Given the description of an element on the screen output the (x, y) to click on. 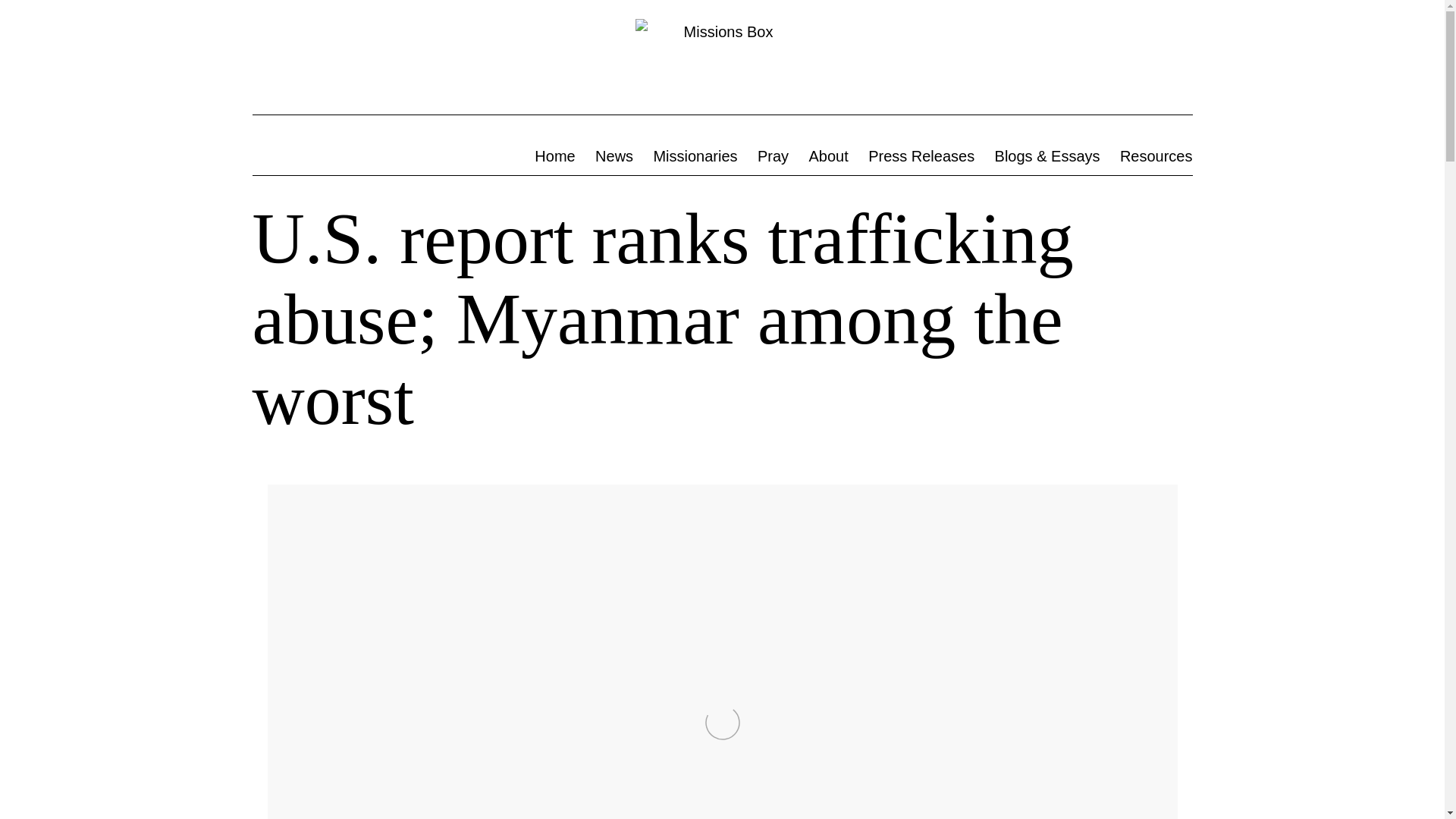
About (828, 156)
Press Releases (921, 156)
Resources (1155, 156)
About (828, 156)
Missions Box Home Page (554, 156)
Missions Box Press Releases (921, 156)
Home (554, 156)
Pray (773, 156)
Missionaries (695, 156)
News (614, 156)
